Given the description of an element on the screen output the (x, y) to click on. 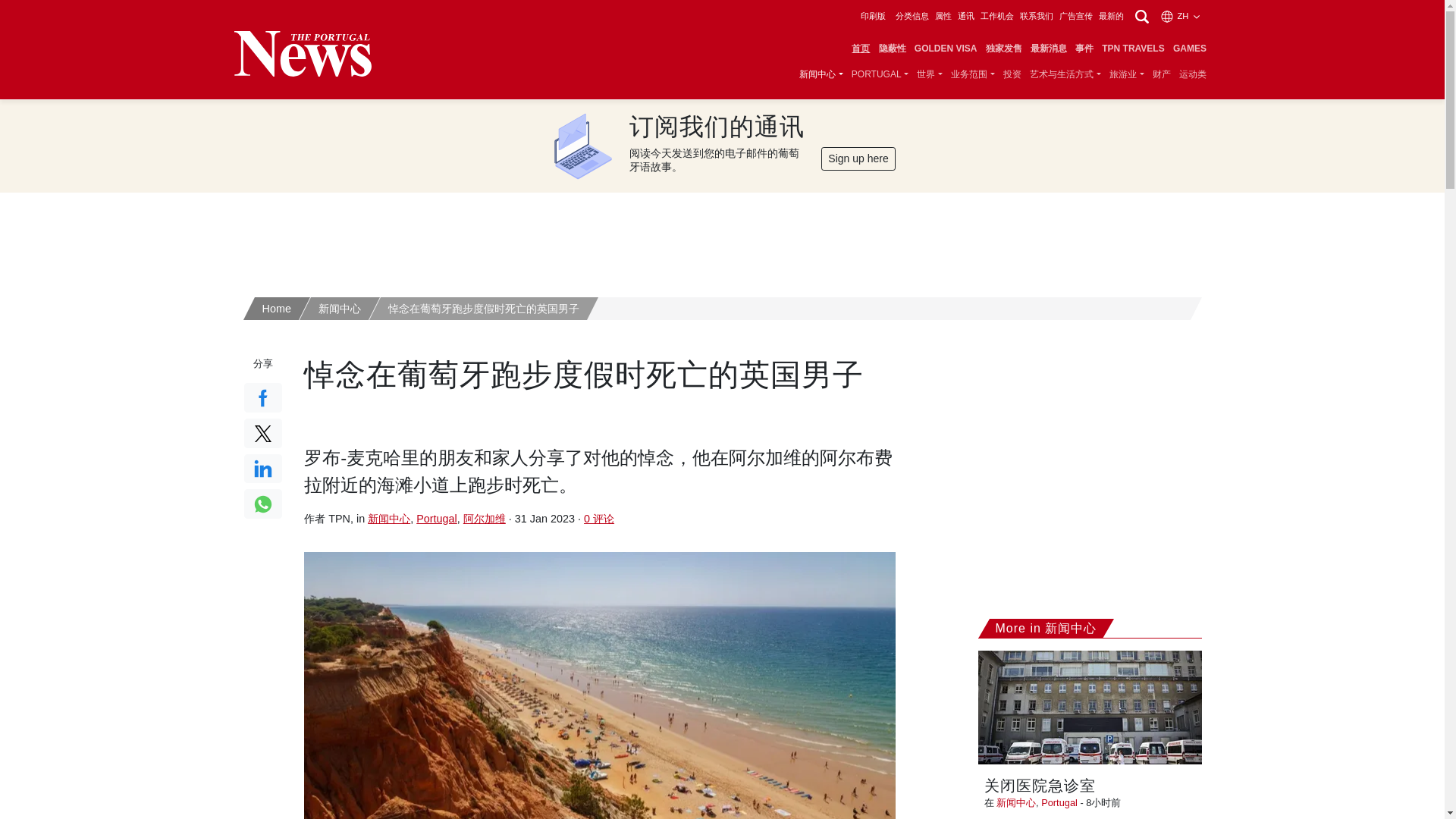
PORTUGAL (879, 73)
TPN TRAVELS (1133, 48)
GAMES (1189, 48)
ZH (1180, 15)
GOLDEN VISA (945, 48)
